Given the description of an element on the screen output the (x, y) to click on. 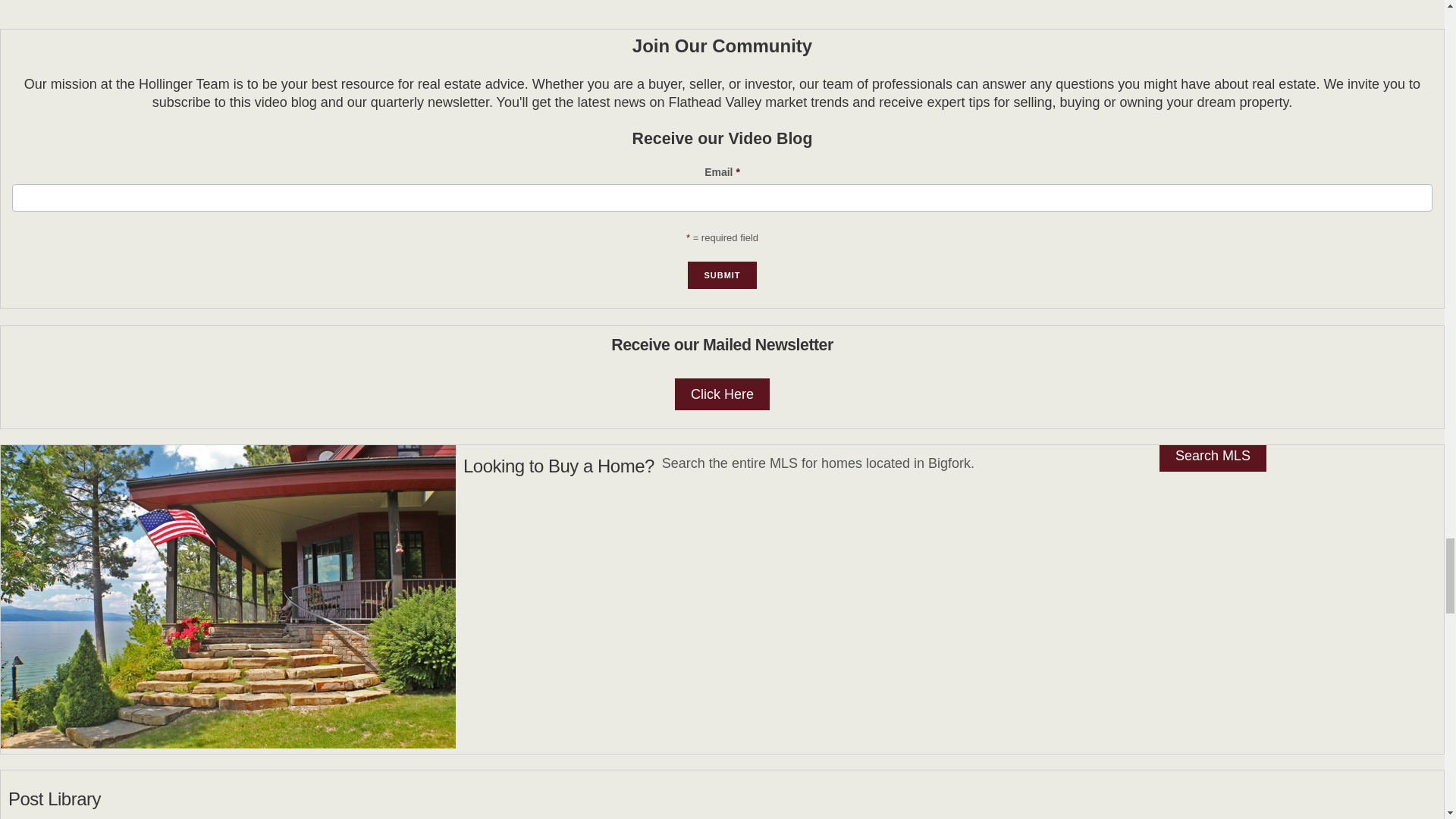
Submit (721, 275)
